Given the description of an element on the screen output the (x, y) to click on. 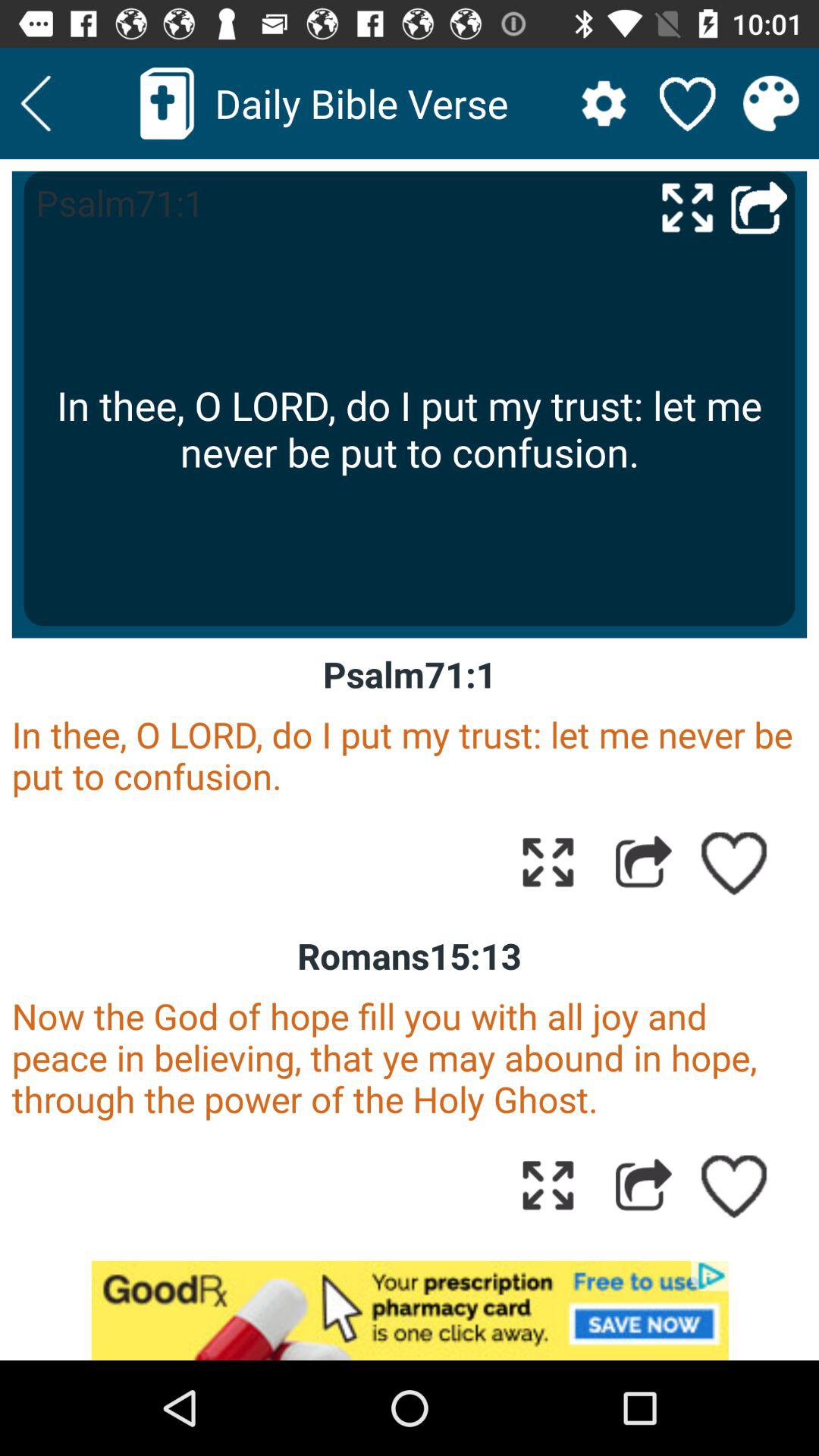
share button (643, 861)
